Given the description of an element on the screen output the (x, y) to click on. 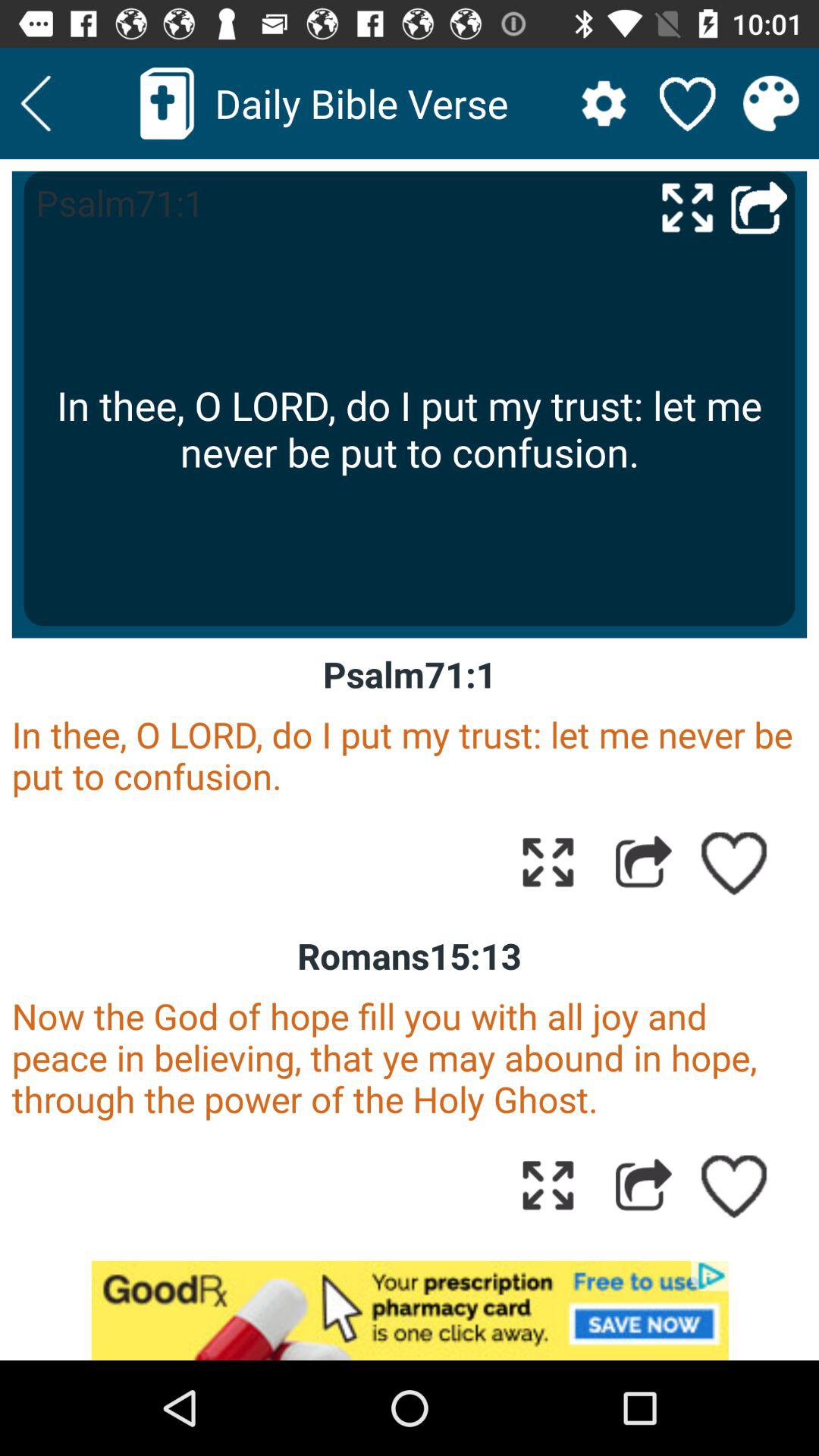
share button (643, 861)
